Given the description of an element on the screen output the (x, y) to click on. 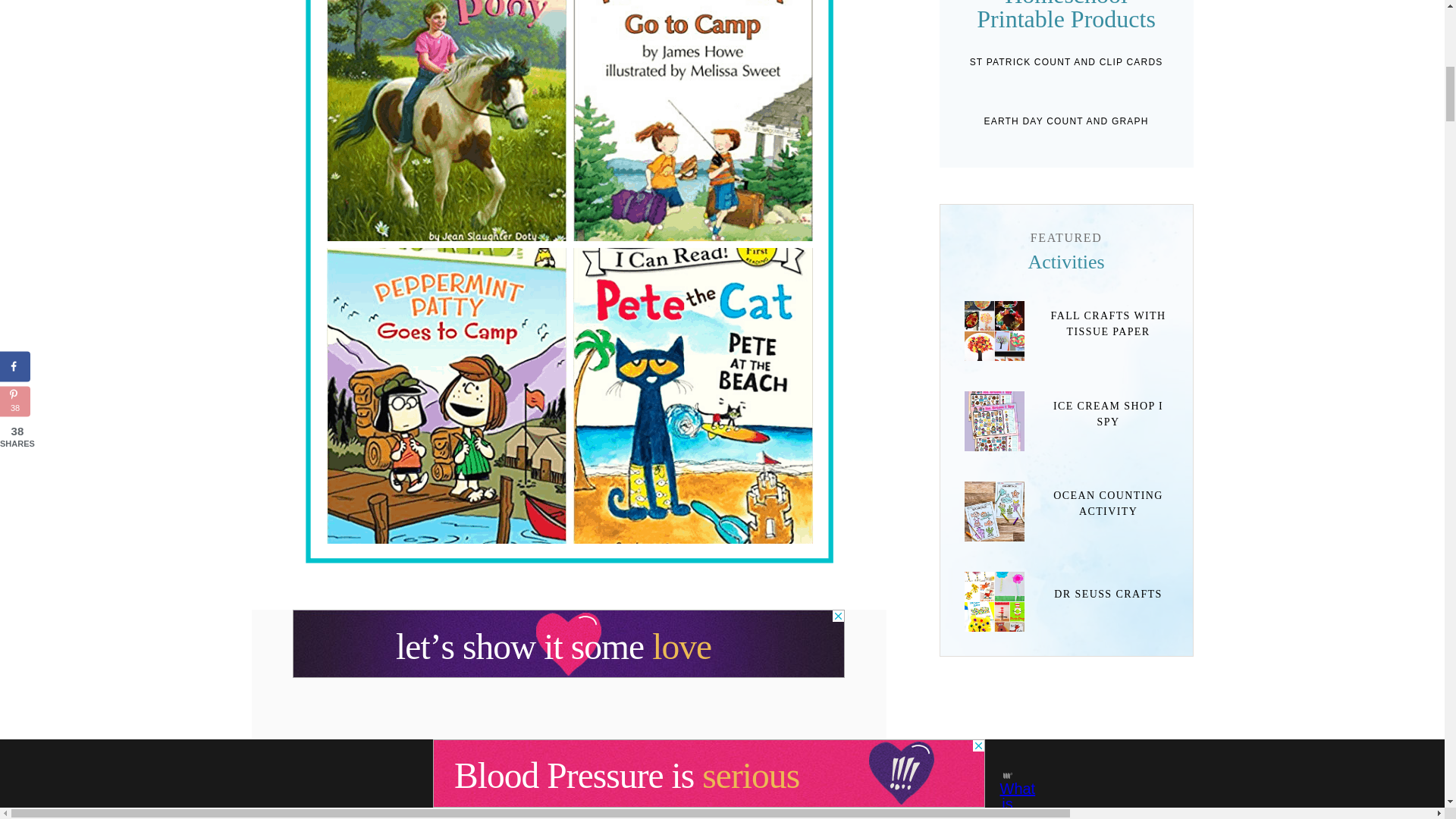
3rd party ad content (568, 643)
